Given the description of an element on the screen output the (x, y) to click on. 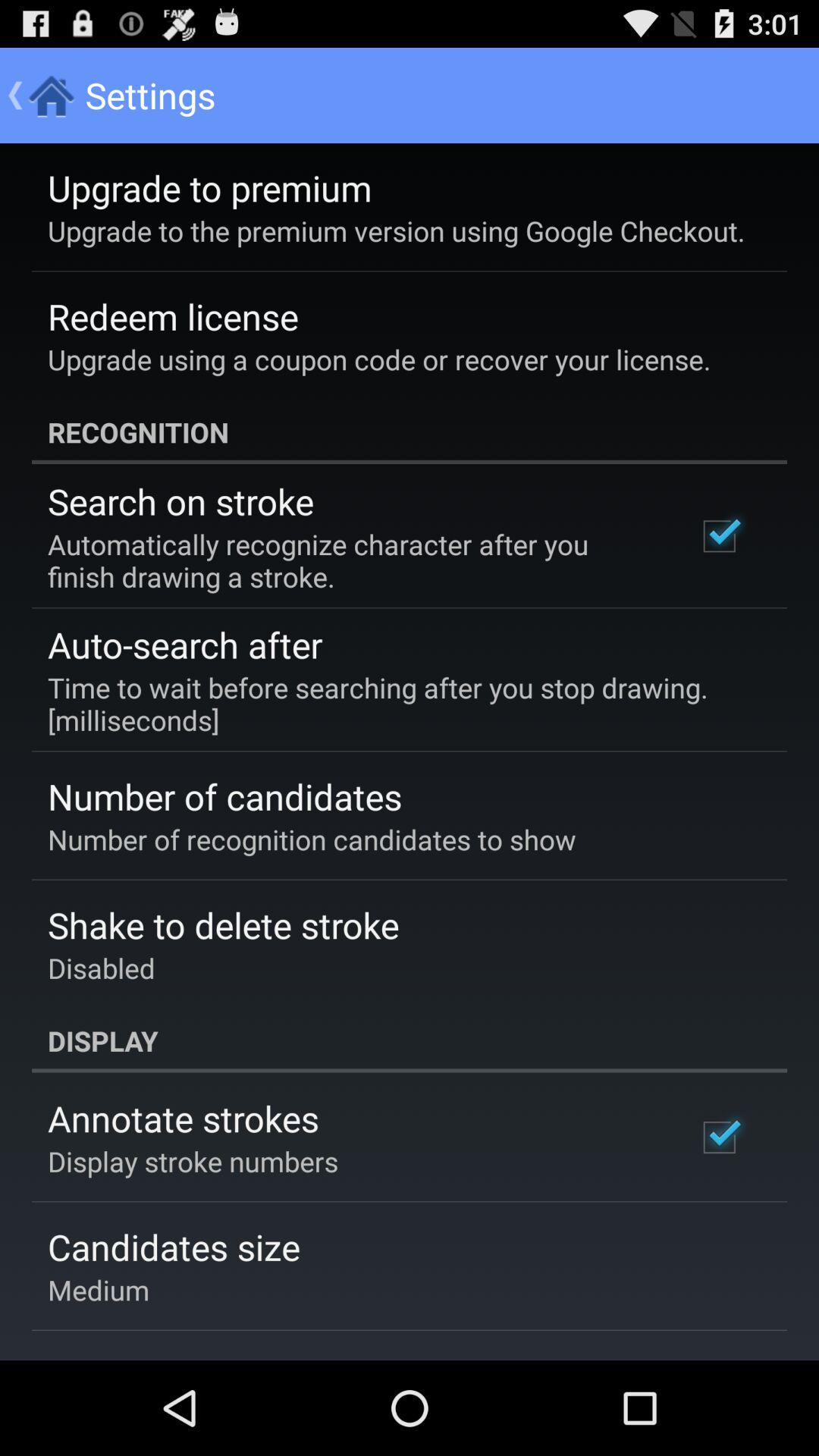
tap the automatically recognize character (351, 560)
